Given the description of an element on the screen output the (x, y) to click on. 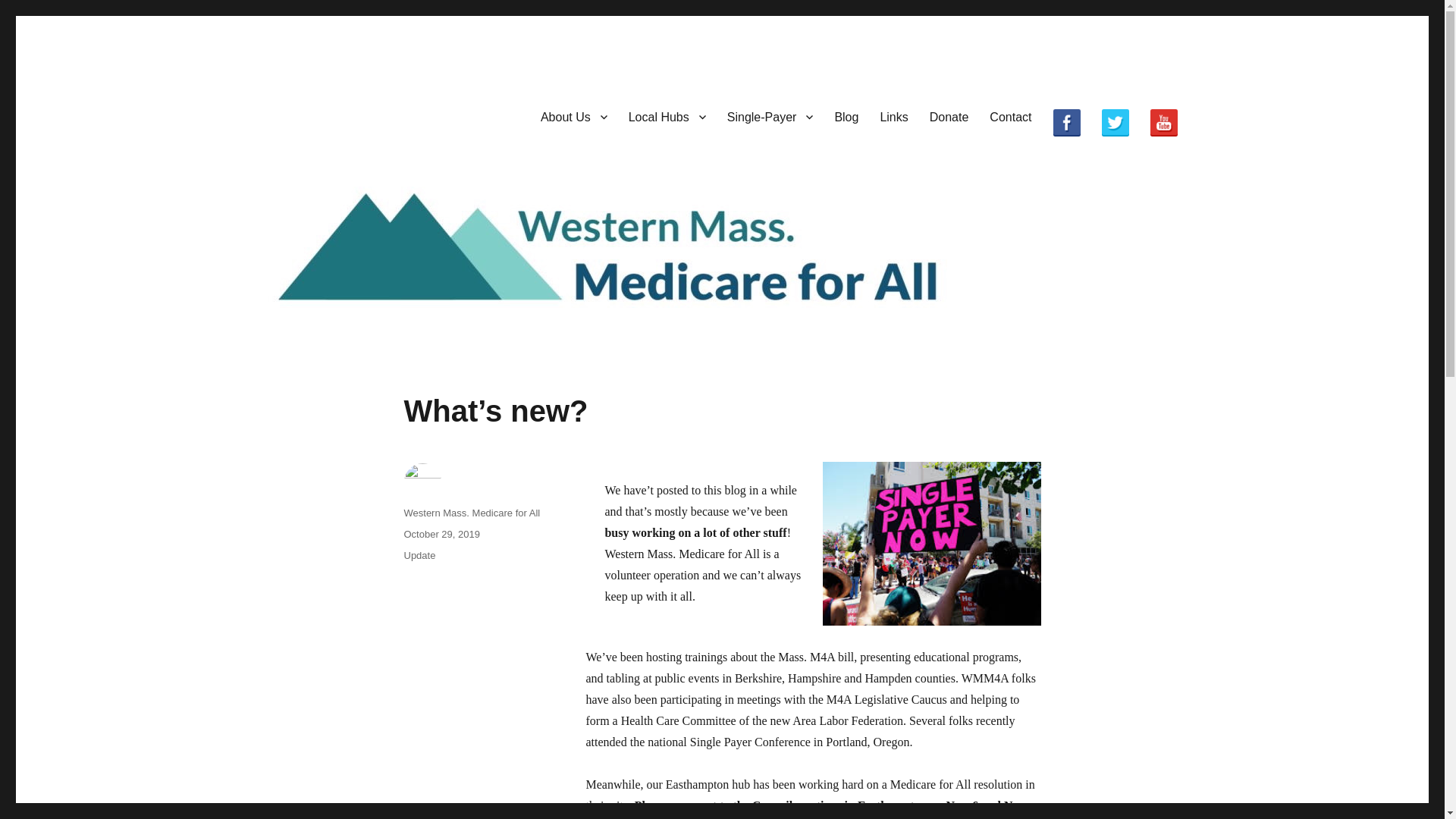
Local Hubs (666, 116)
Links (893, 116)
October 29, 2019 (441, 533)
Western Mass. Medicare for All (471, 512)
About Us (573, 116)
Donate (948, 116)
Blog (846, 116)
Single-Payer (770, 116)
Update (419, 555)
Contact (1010, 116)
Western Mass. Medicare for All (422, 114)
